Given the description of an element on the screen output the (x, y) to click on. 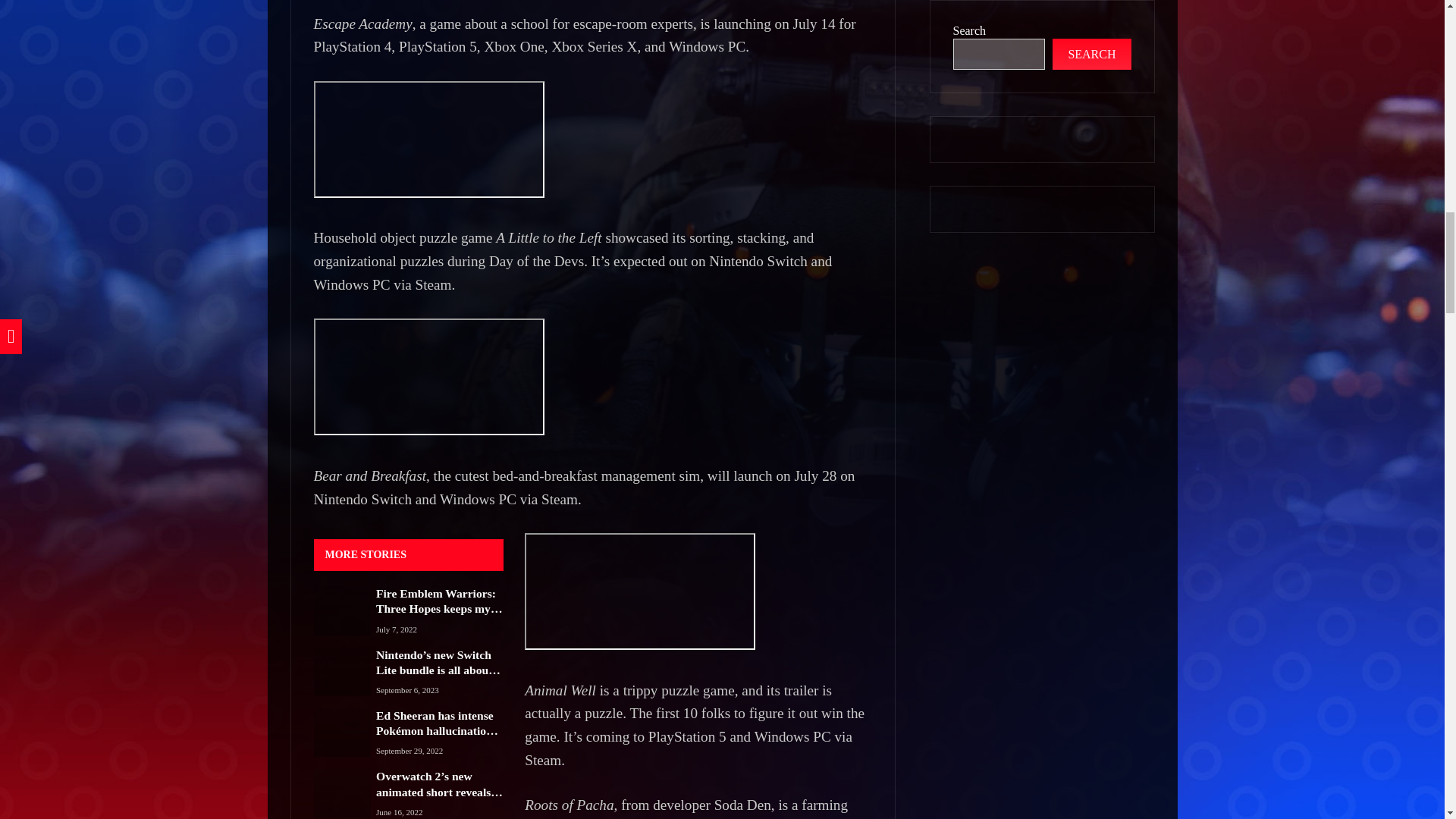
July 7, 2022 (395, 629)
September 6, 2023 (407, 689)
